Given the description of an element on the screen output the (x, y) to click on. 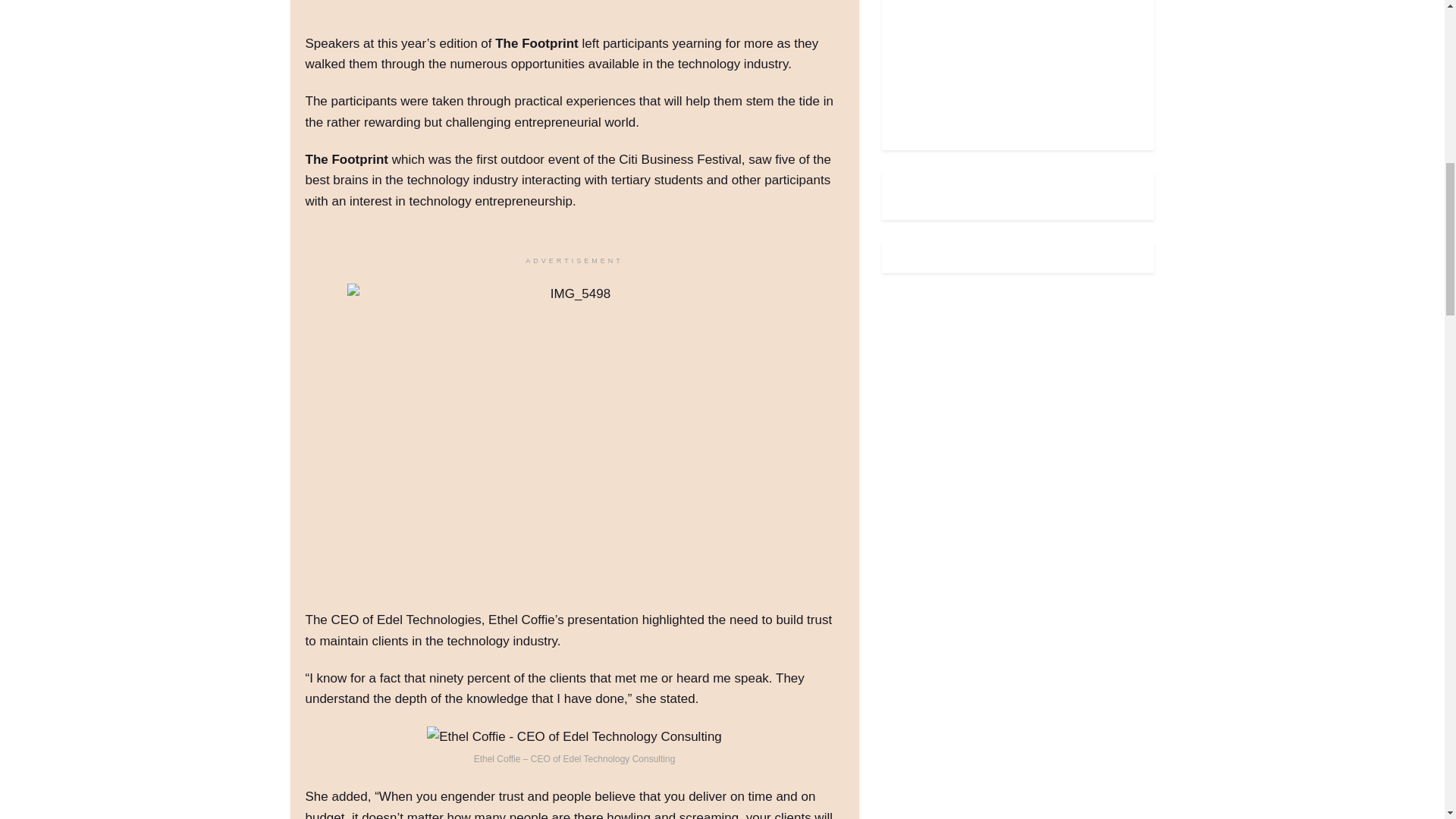
Advertisement (1010, 64)
Advertisement (580, 13)
